Given the description of an element on the screen output the (x, y) to click on. 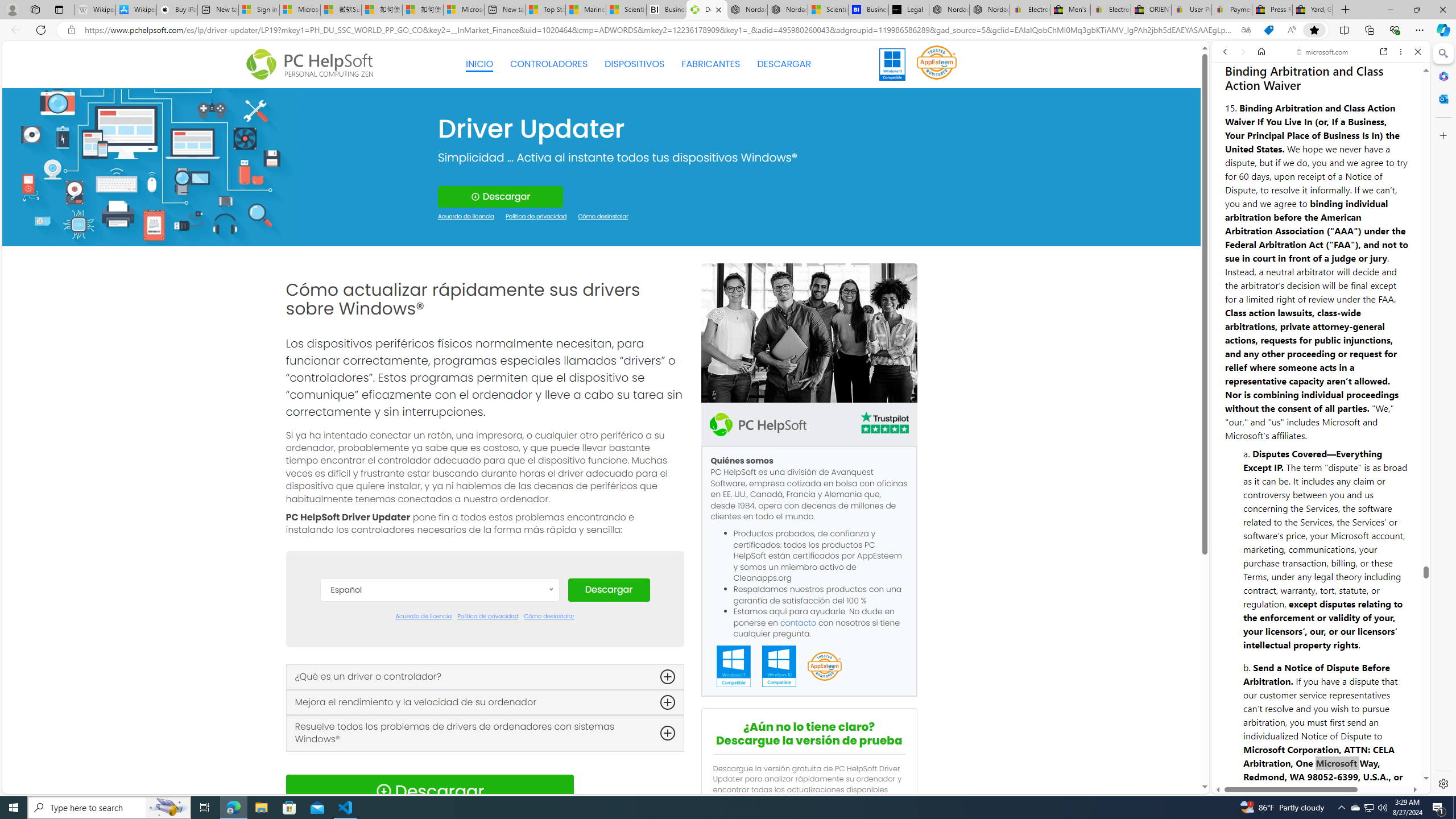
Minimize Search pane (1442, 53)
Download Icon Descargar (429, 790)
